Given the description of an element on the screen output the (x, y) to click on. 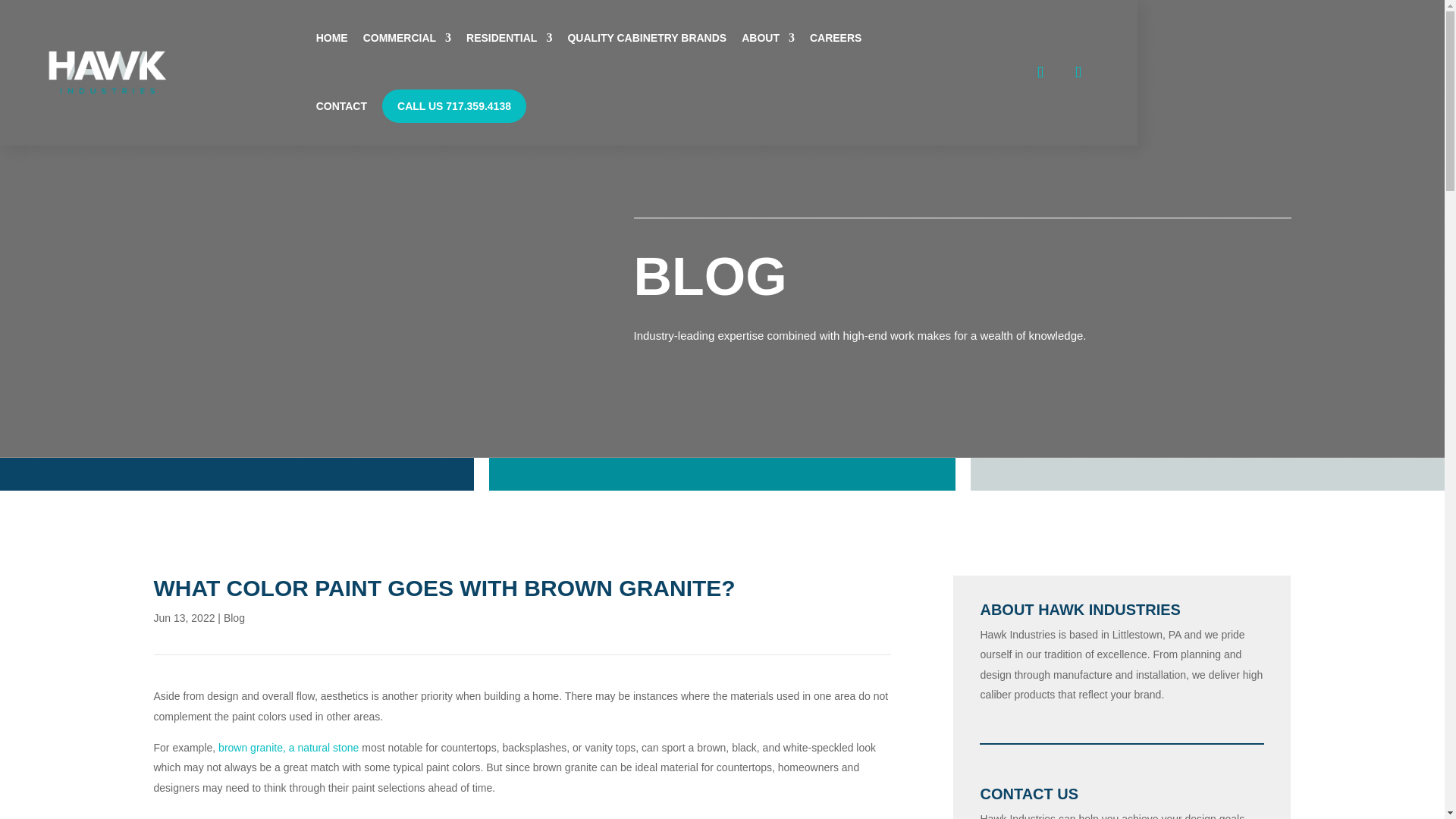
Blog (234, 617)
HawkIndustries-Logotype (107, 72)
HOME (331, 40)
CAREERS (835, 40)
CALL US 717.359.4138 (453, 105)
Follow on LinkedIn (1078, 71)
Follow on Facebook (1041, 71)
ABOUT (767, 40)
brown granite, a natural stone (288, 747)
RESIDENTIAL (508, 40)
